Given the description of an element on the screen output the (x, y) to click on. 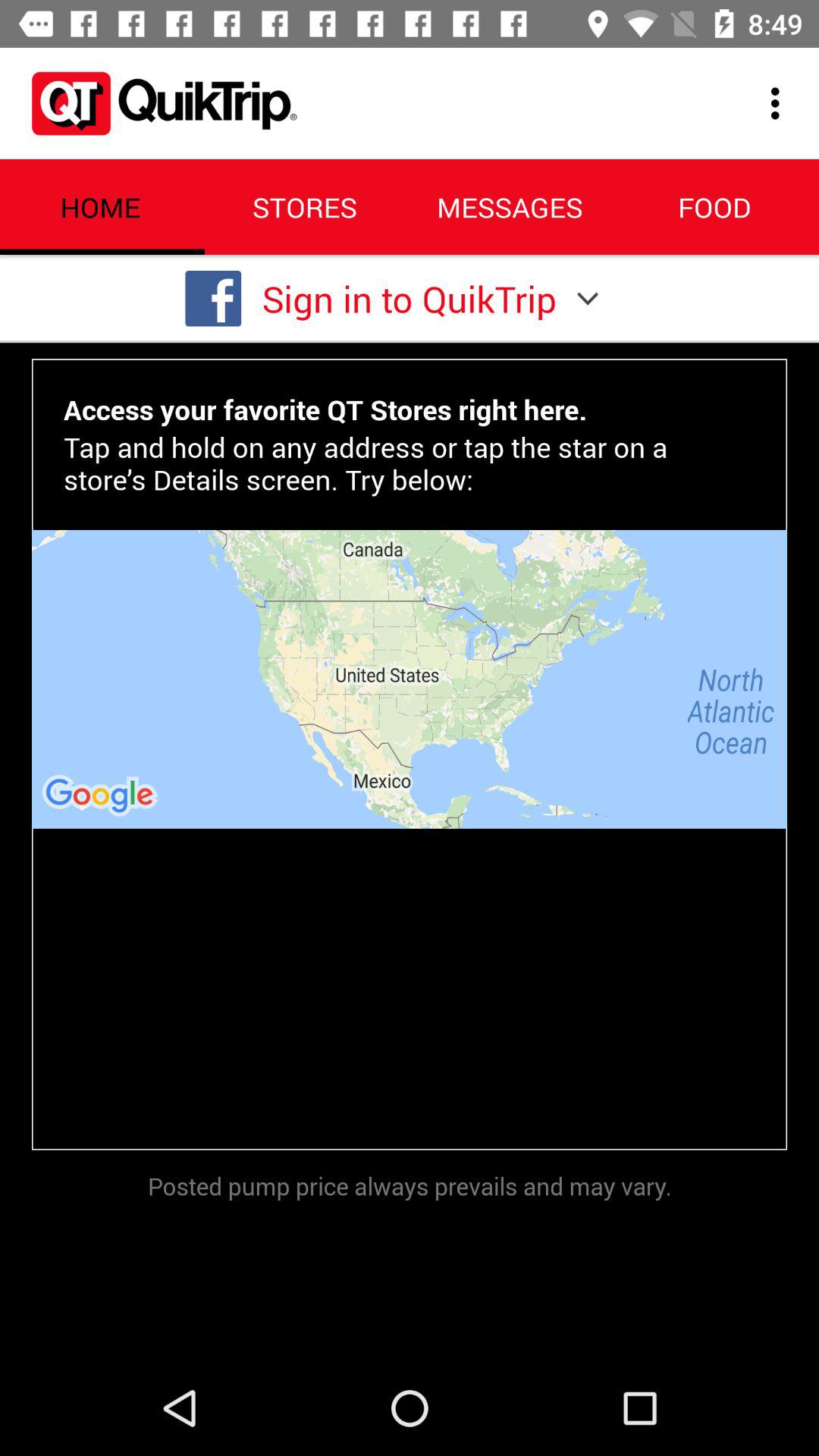
launch item above posted pump price icon (409, 679)
